Given the description of an element on the screen output the (x, y) to click on. 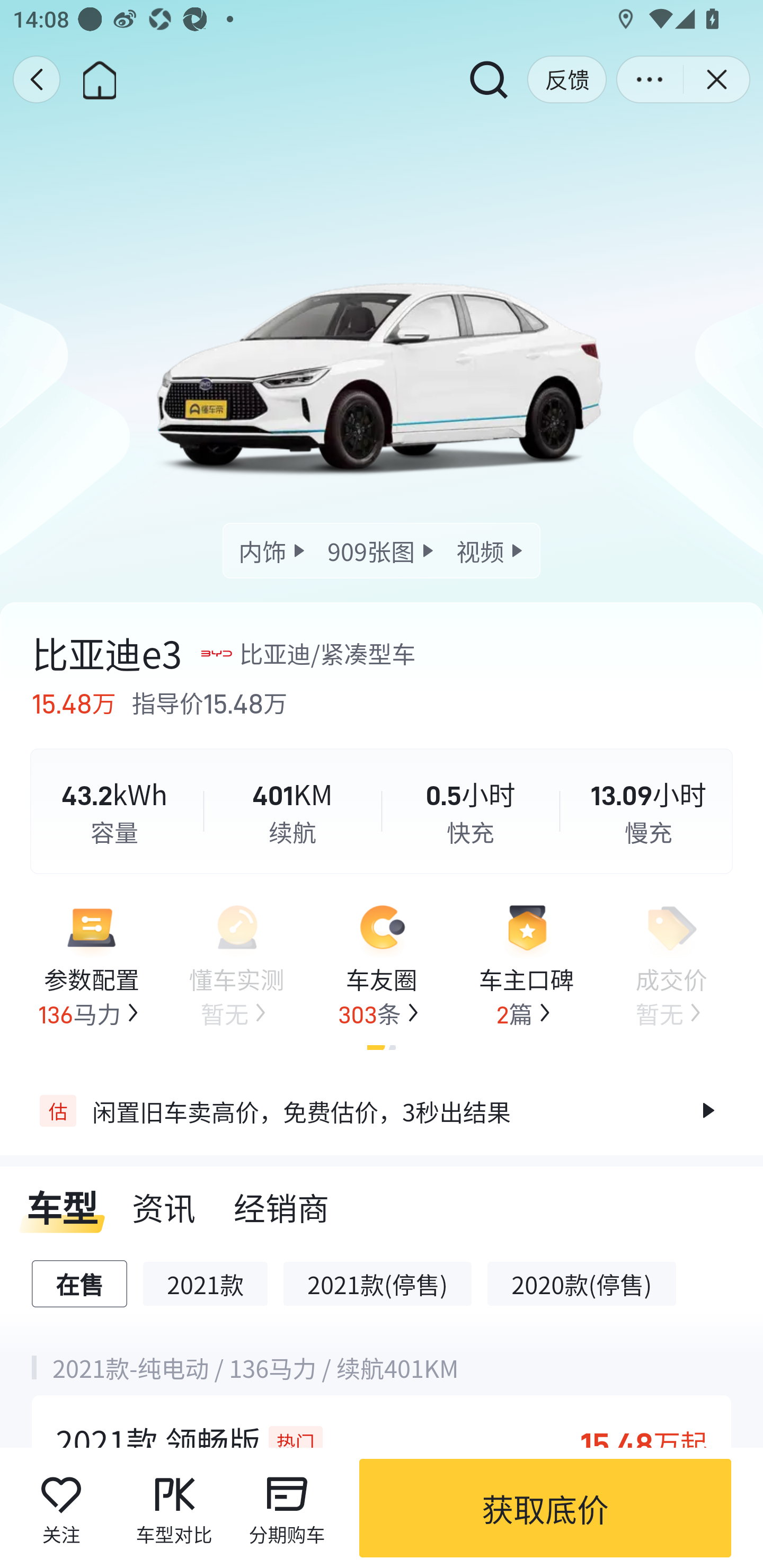
返回 (36, 78)
反馈 (566, 78)
更多 (649, 78)
关闭 (716, 78)
